Given the description of an element on the screen output the (x, y) to click on. 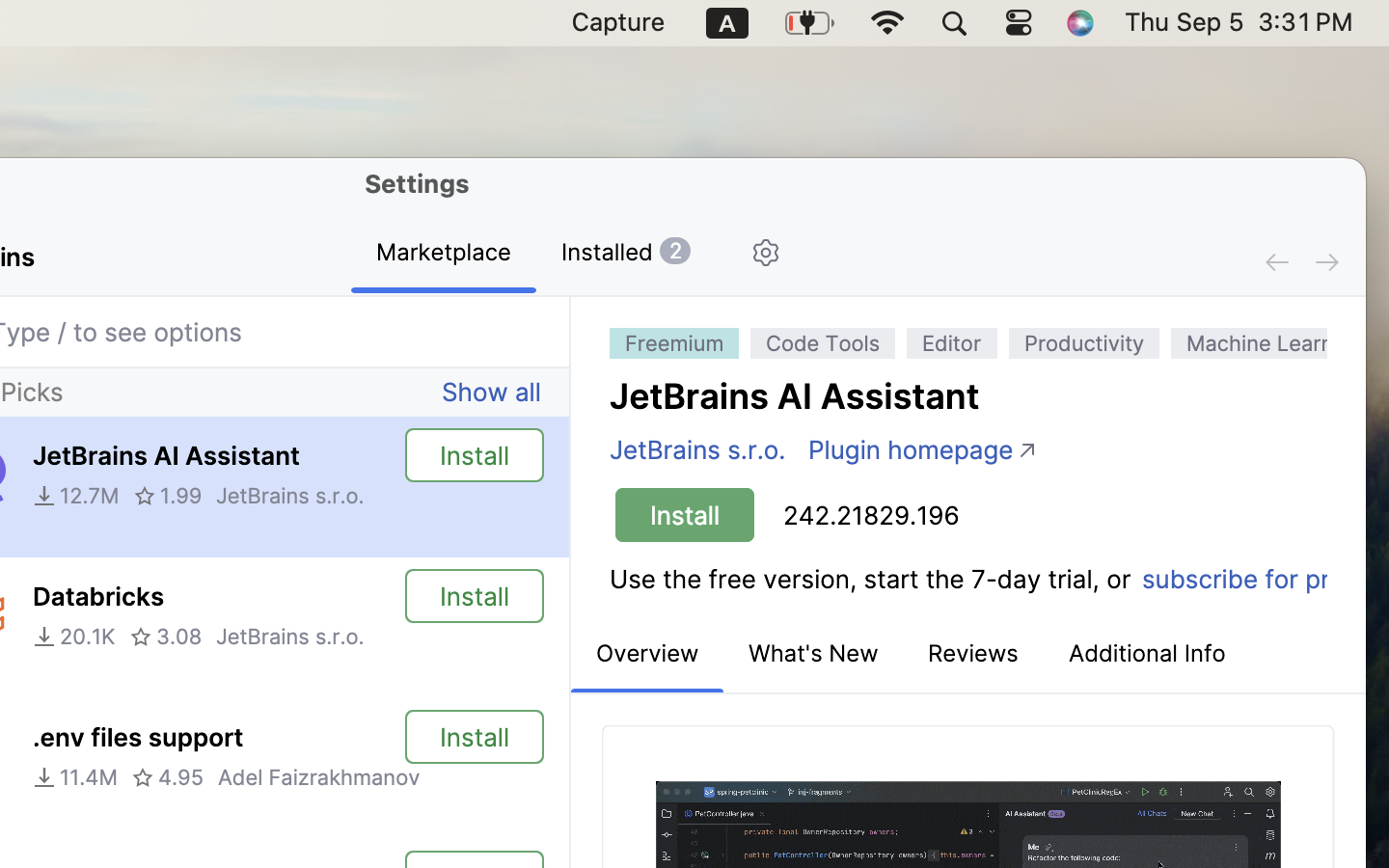
0 Element type: AXGroup (968, 341)
3.08 Element type: AXStaticText (165, 636)
True Element type: AXRadioButton (443, 253)
Databricks Element type: AXStaticText (97, 596)
Adel Faizrakhmanov Element type: AXStaticText (318, 776)
